Given the description of an element on the screen output the (x, y) to click on. 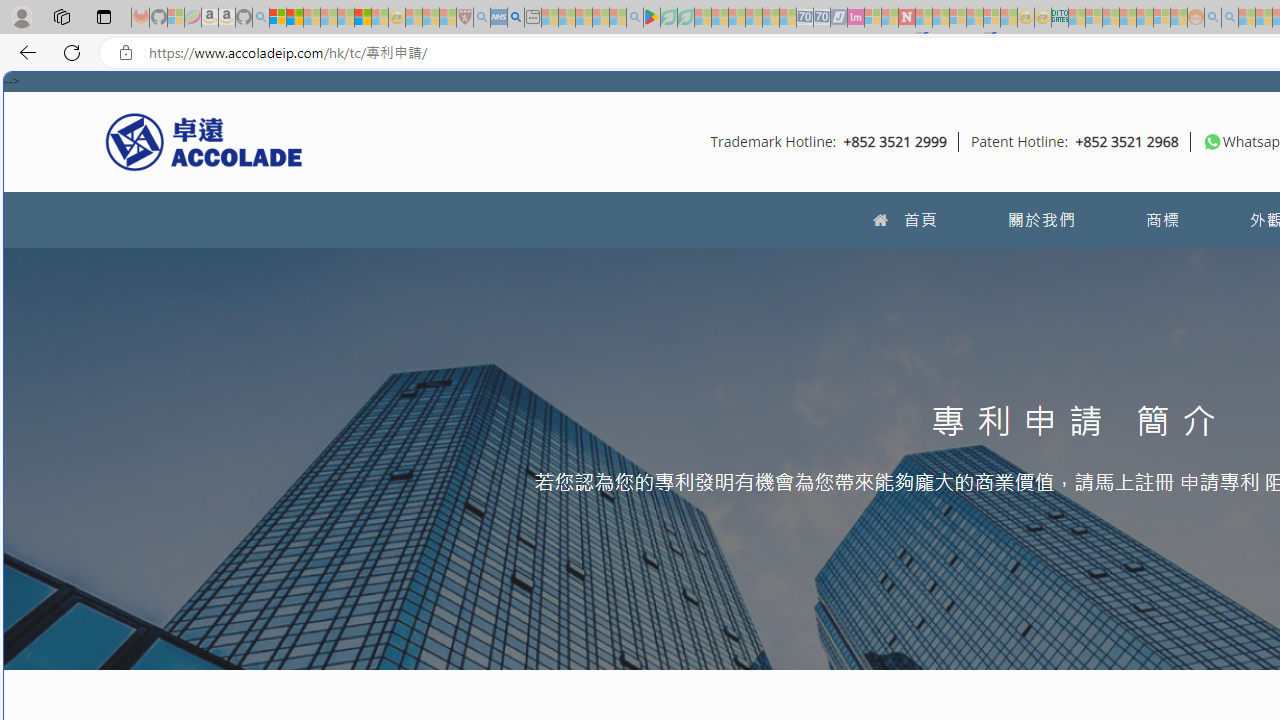
Jobs - lastminute.com Investor Portal - Sleeping (855, 17)
Pets - MSN - Sleeping (600, 17)
google - Search - Sleeping (634, 17)
